Given the description of an element on the screen output the (x, y) to click on. 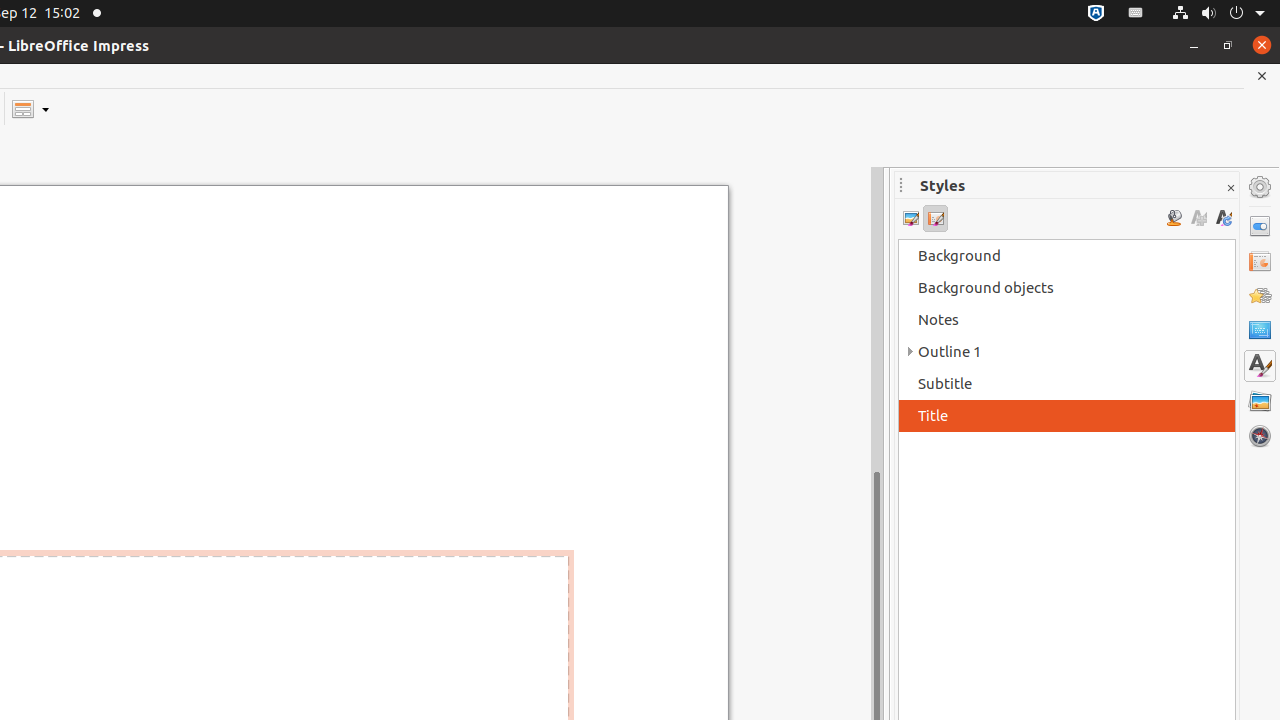
Animation Element type: radio-button (1260, 296)
Gallery Element type: radio-button (1260, 401)
